Given the description of an element on the screen output the (x, y) to click on. 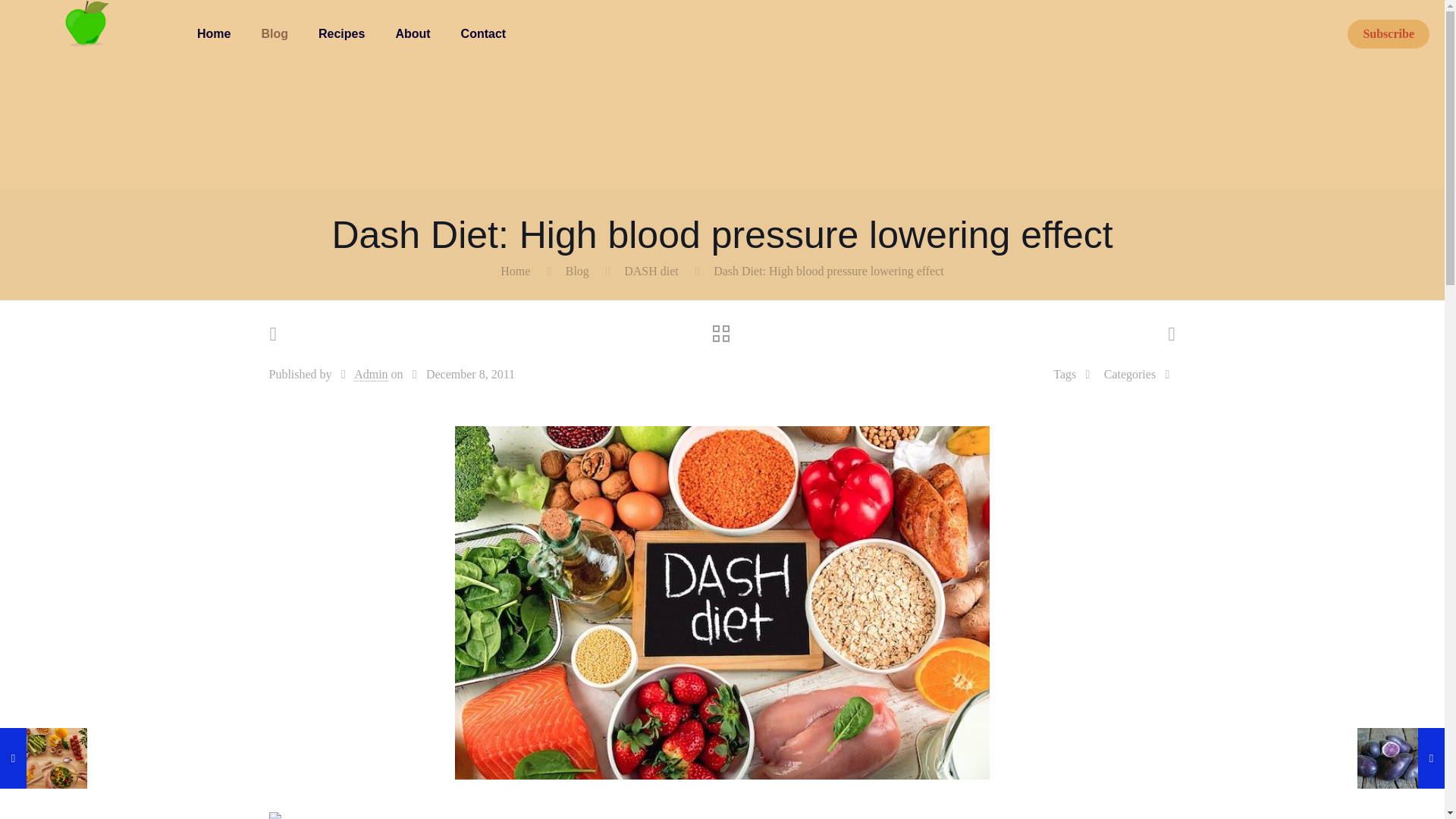
Subscribe (1388, 33)
Blog (577, 270)
Contact (483, 33)
About (412, 33)
DASH diet (651, 270)
Home (514, 270)
Recipes (341, 33)
Home (214, 33)
Subscribe (1388, 33)
Admin (370, 374)
